Given the description of an element on the screen output the (x, y) to click on. 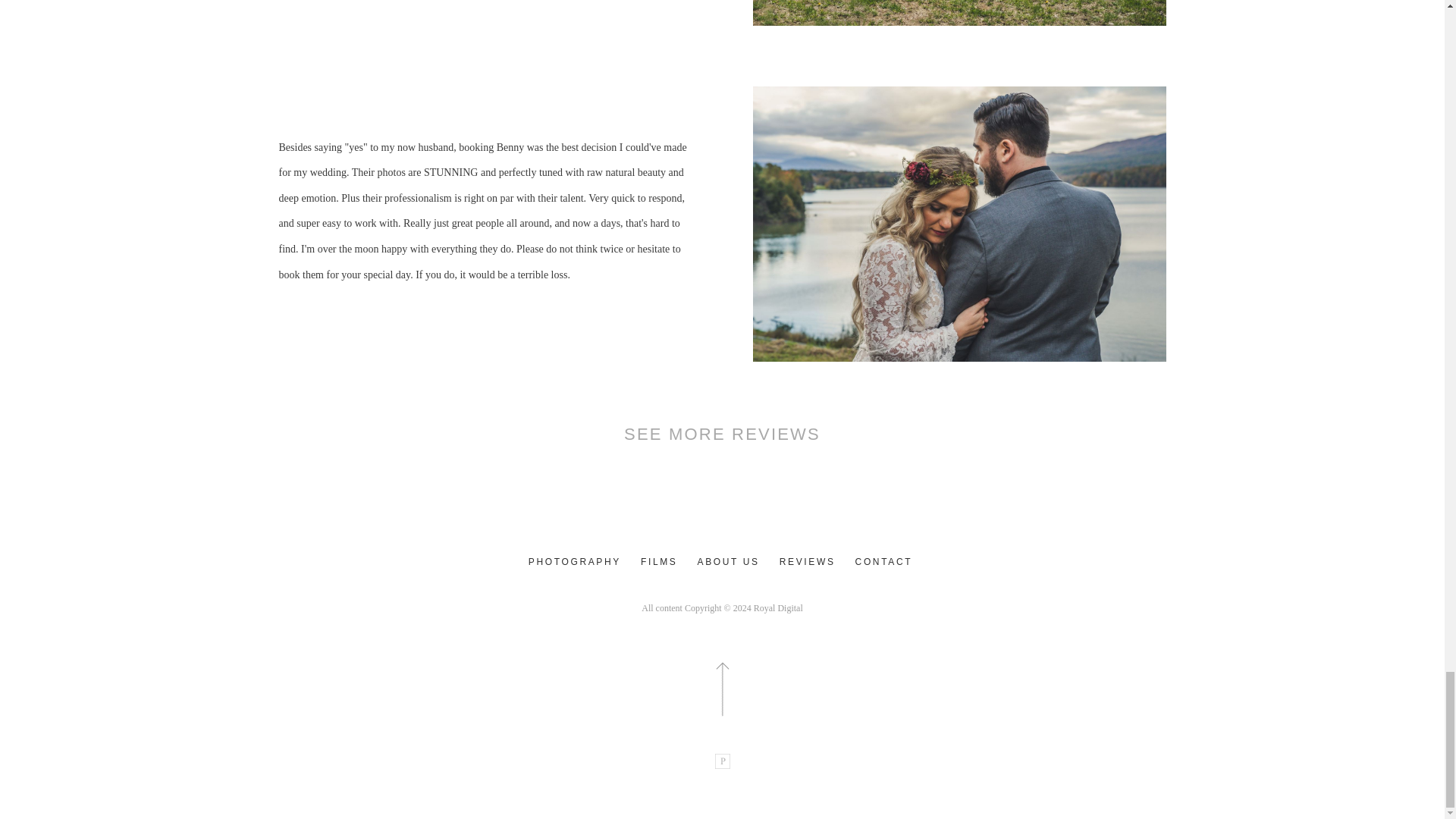
CONTACT (883, 562)
REVIEWS (807, 562)
ABOUT US (728, 562)
PHOTOGRAPHY (574, 562)
FILMS (659, 562)
SEE MORE REVIEWS (722, 434)
